Given the description of an element on the screen output the (x, y) to click on. 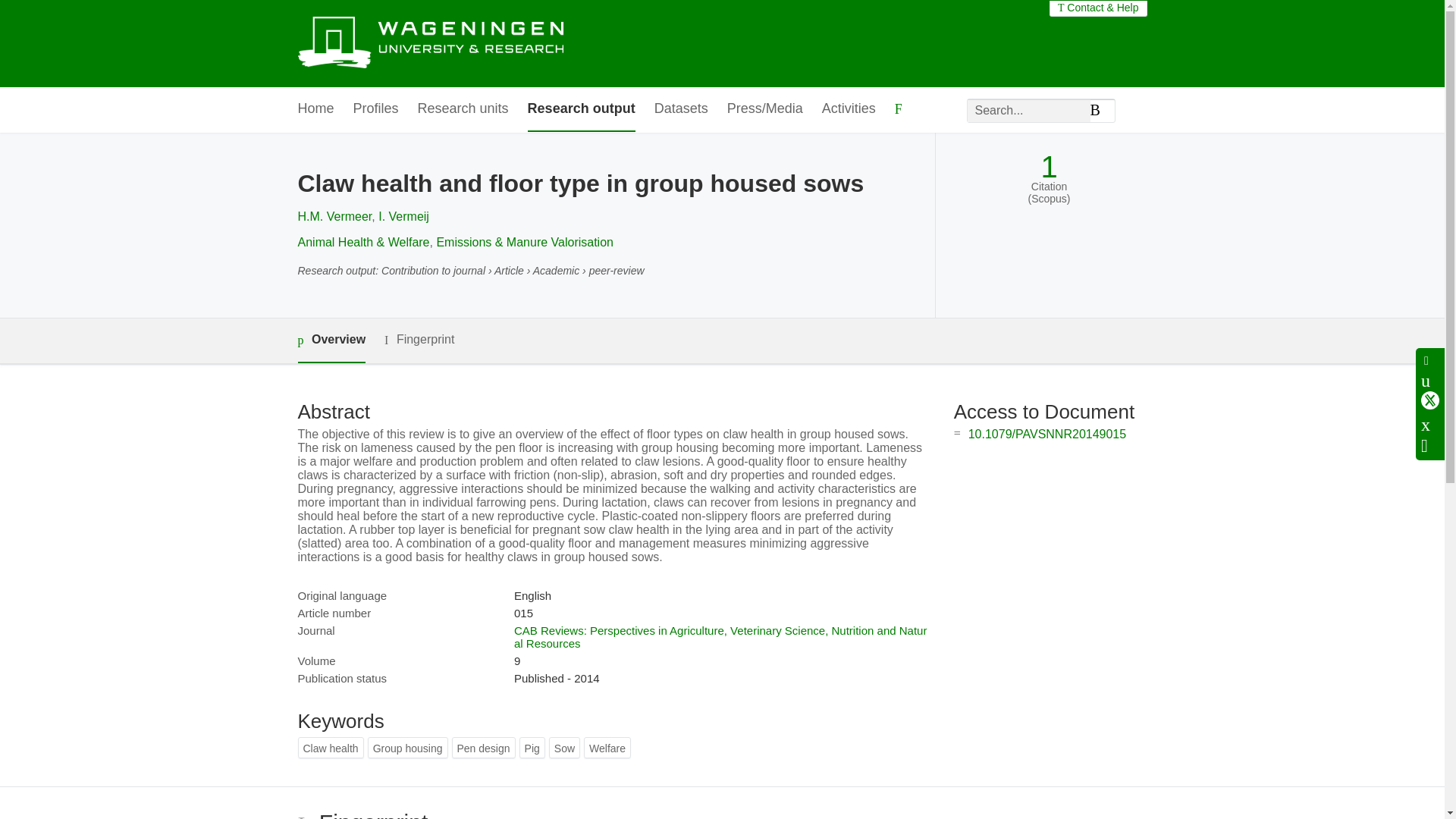
Activities (849, 108)
I. Vermeij (403, 215)
Research output (580, 108)
Profiles (375, 108)
Fingerprint (419, 339)
Research units (462, 108)
Datasets (680, 108)
Overview (331, 340)
H.M. Vermeer (334, 215)
